Given the description of an element on the screen output the (x, y) to click on. 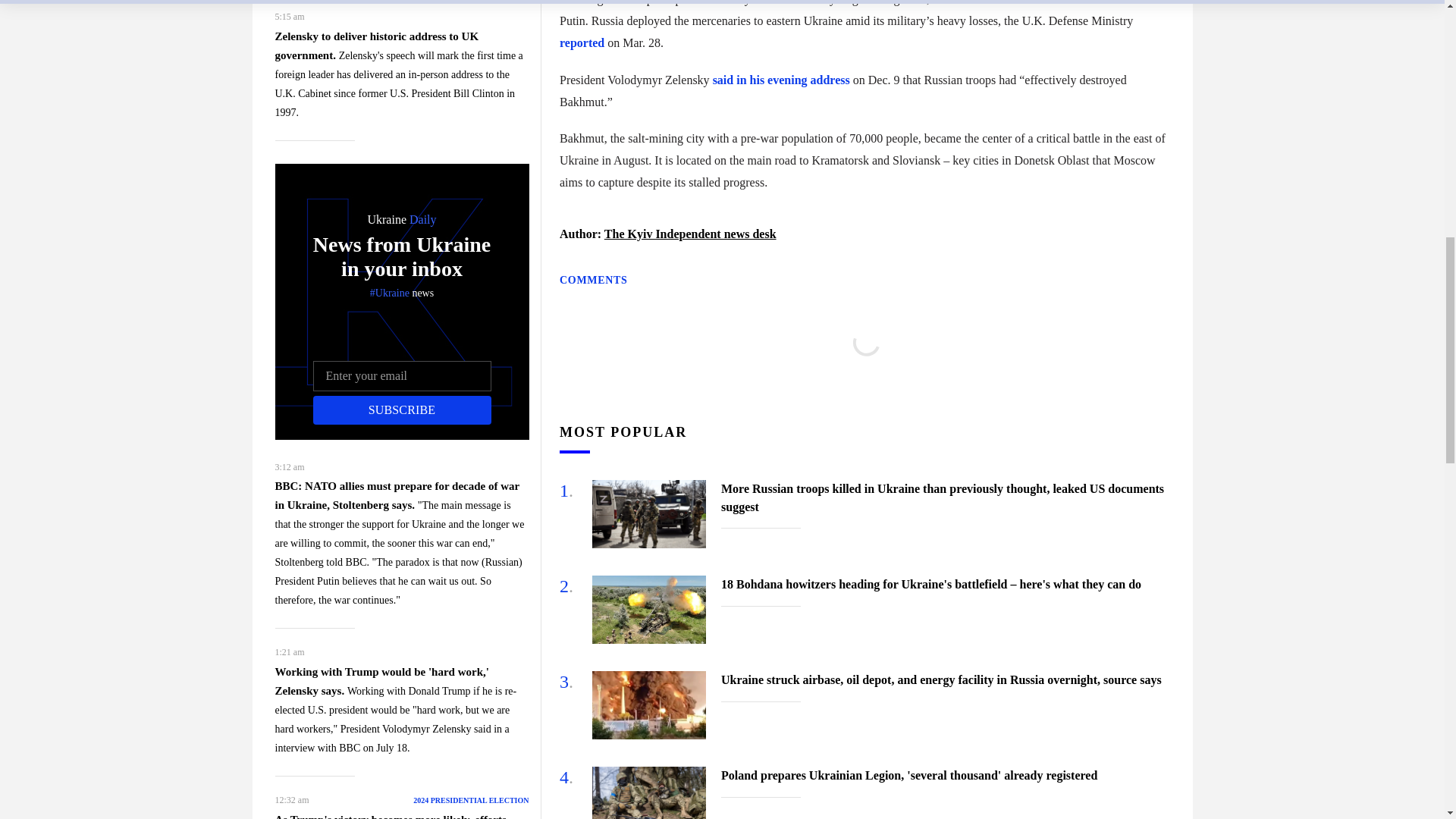
comments-frame (866, 360)
